Given the description of an element on the screen output the (x, y) to click on. 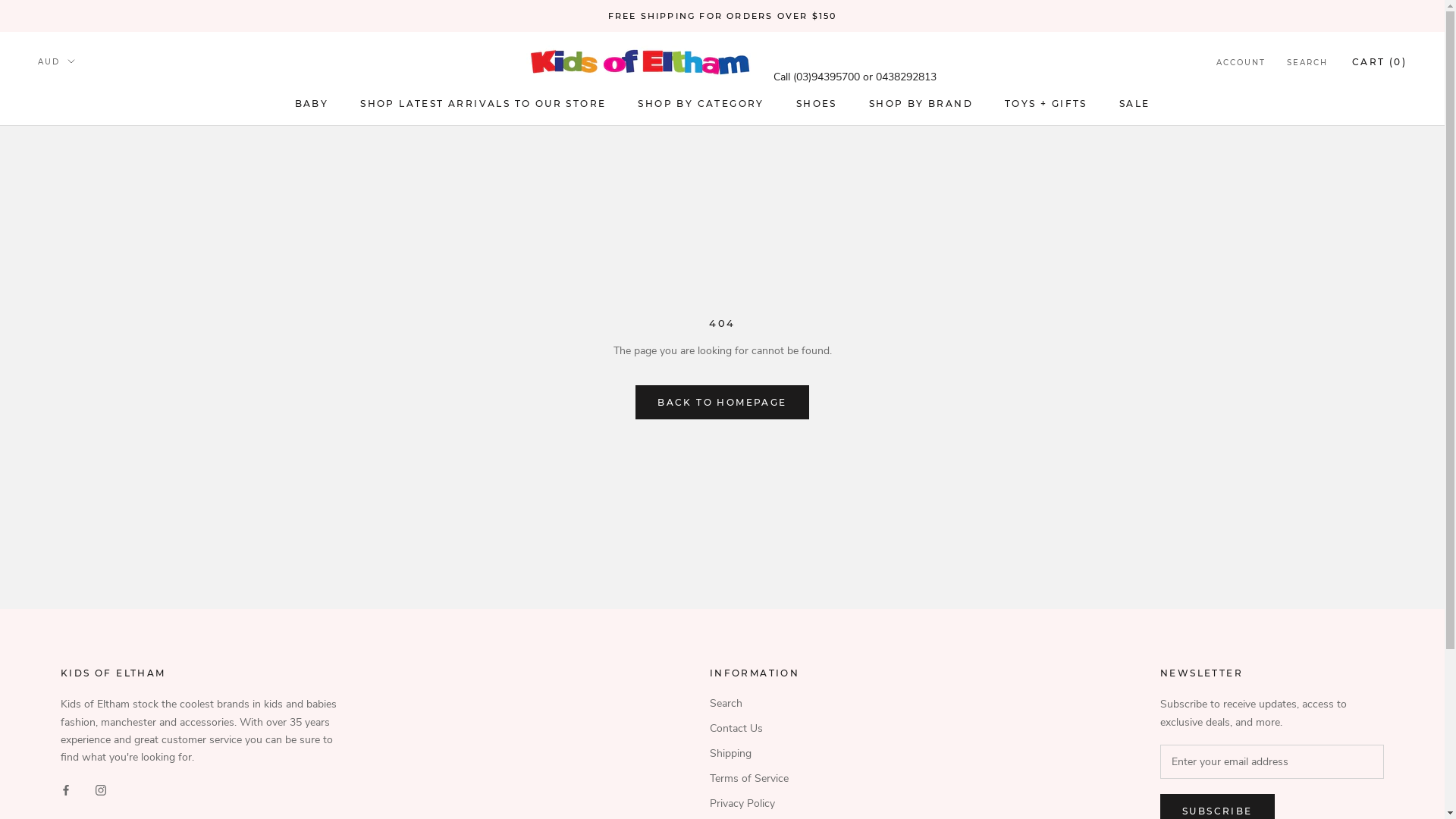
SHOP BY BRAND
SHOP BY BRAND Element type: text (920, 103)
BABY Element type: text (311, 103)
Search Element type: text (754, 703)
BACK TO HOMEPAGE Element type: text (721, 402)
TOYS + GIFTS Element type: text (1045, 103)
Contact Us Element type: text (754, 728)
SHOP BY CATEGORY
SHOP BY CATEGORY Element type: text (700, 103)
CART (0) Element type: text (1379, 61)
Privacy Policy Element type: text (754, 803)
Shipping Element type: text (754, 753)
SALE
SALE Element type: text (1134, 103)
SHOES Element type: text (816, 103)
Terms of Service Element type: text (754, 778)
Call (03)94395700 or 0438292813 Element type: text (854, 76)
SEARCH Element type: text (1306, 62)
ACCOUNT Element type: text (1240, 62)
